Given the description of an element on the screen output the (x, y) to click on. 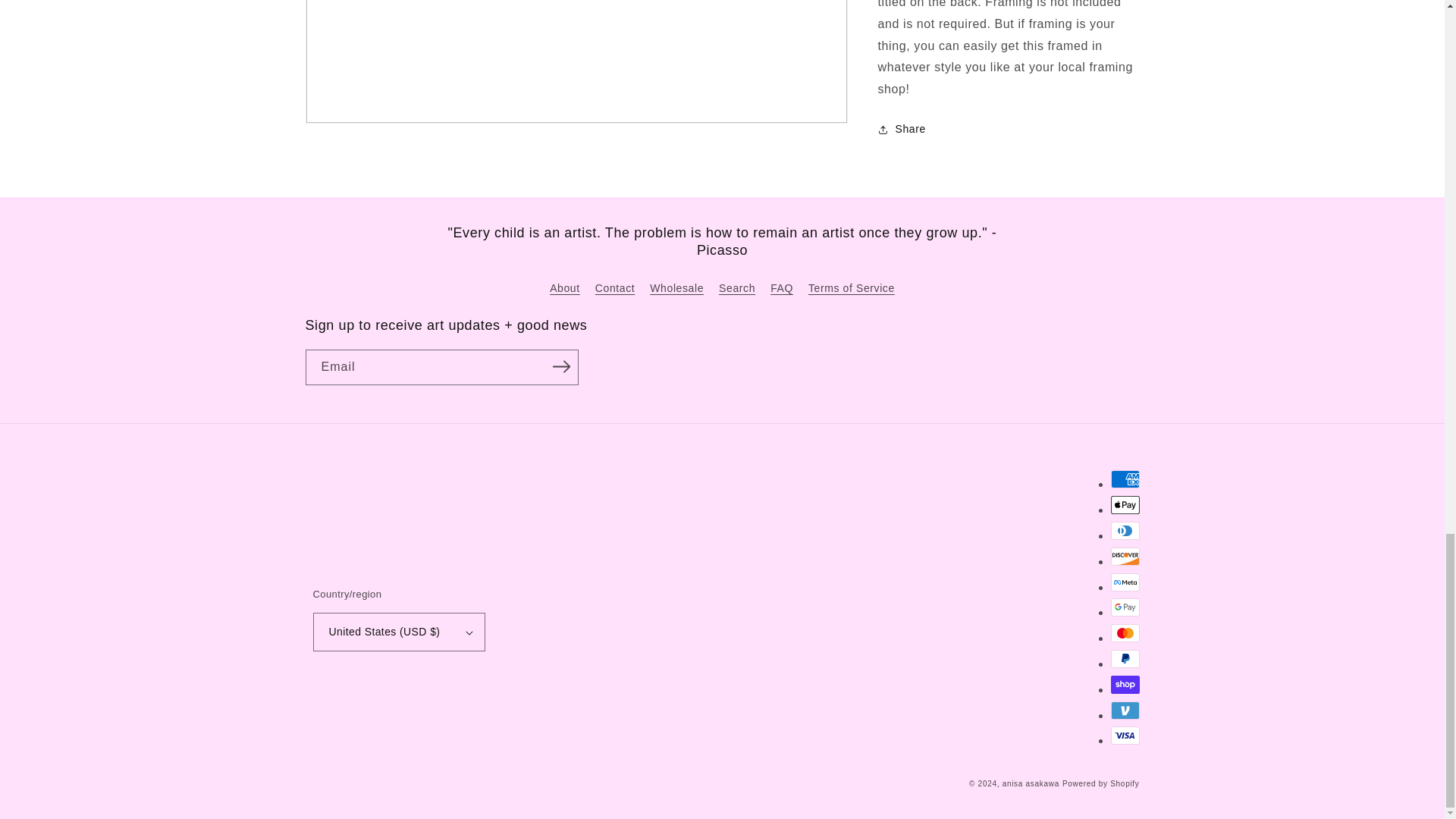
Diners Club (1123, 530)
Apple Pay (1123, 505)
Google Pay (1123, 607)
Mastercard (1123, 633)
Visa (1123, 735)
American Express (1123, 479)
Meta Pay (1123, 582)
Venmo (1123, 710)
PayPal (1123, 659)
Discover (1123, 556)
